Given the description of an element on the screen output the (x, y) to click on. 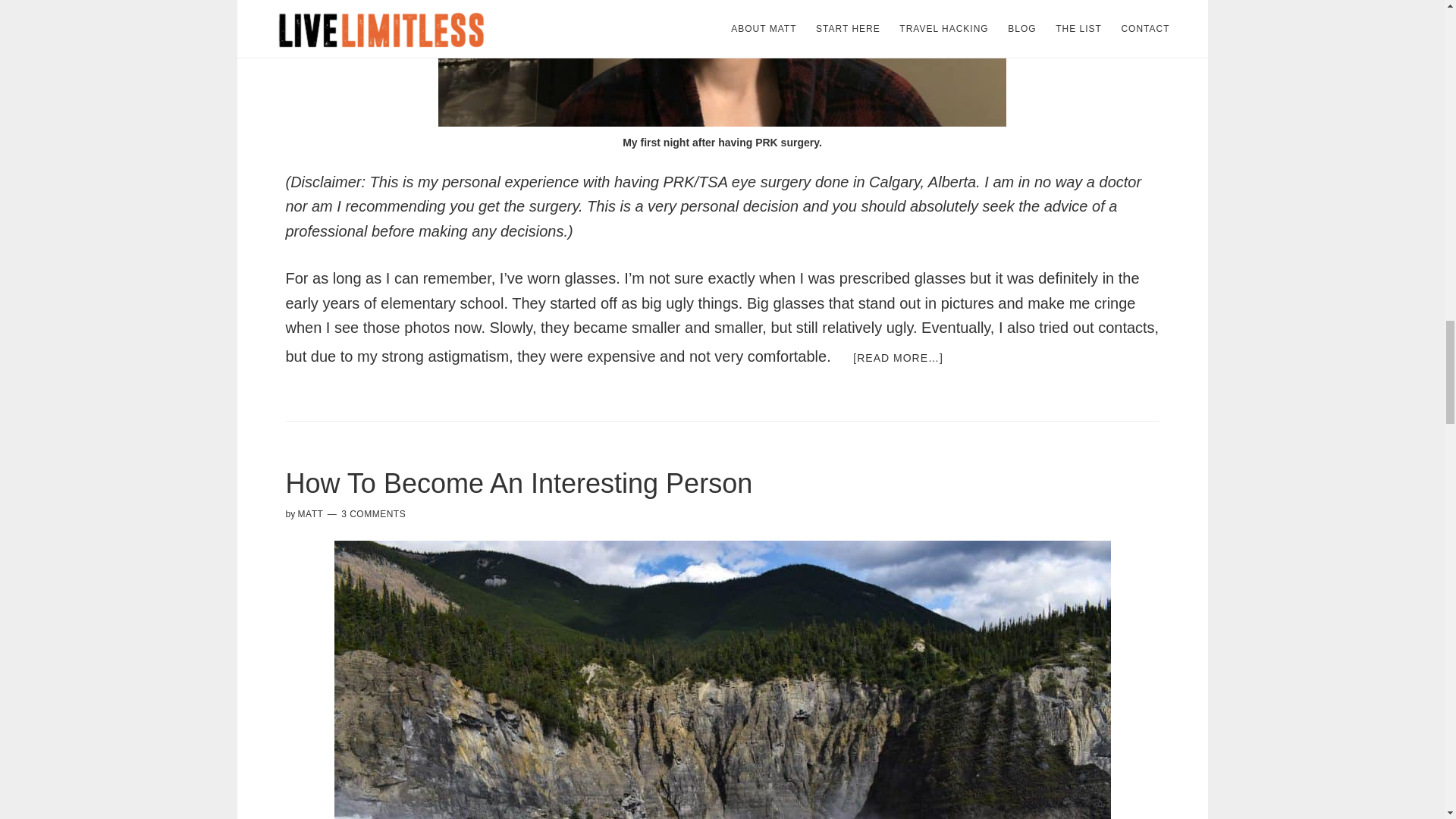
MATT (310, 513)
3 COMMENTS (373, 513)
How To Become An Interesting Person (518, 482)
